Given the description of an element on the screen output the (x, y) to click on. 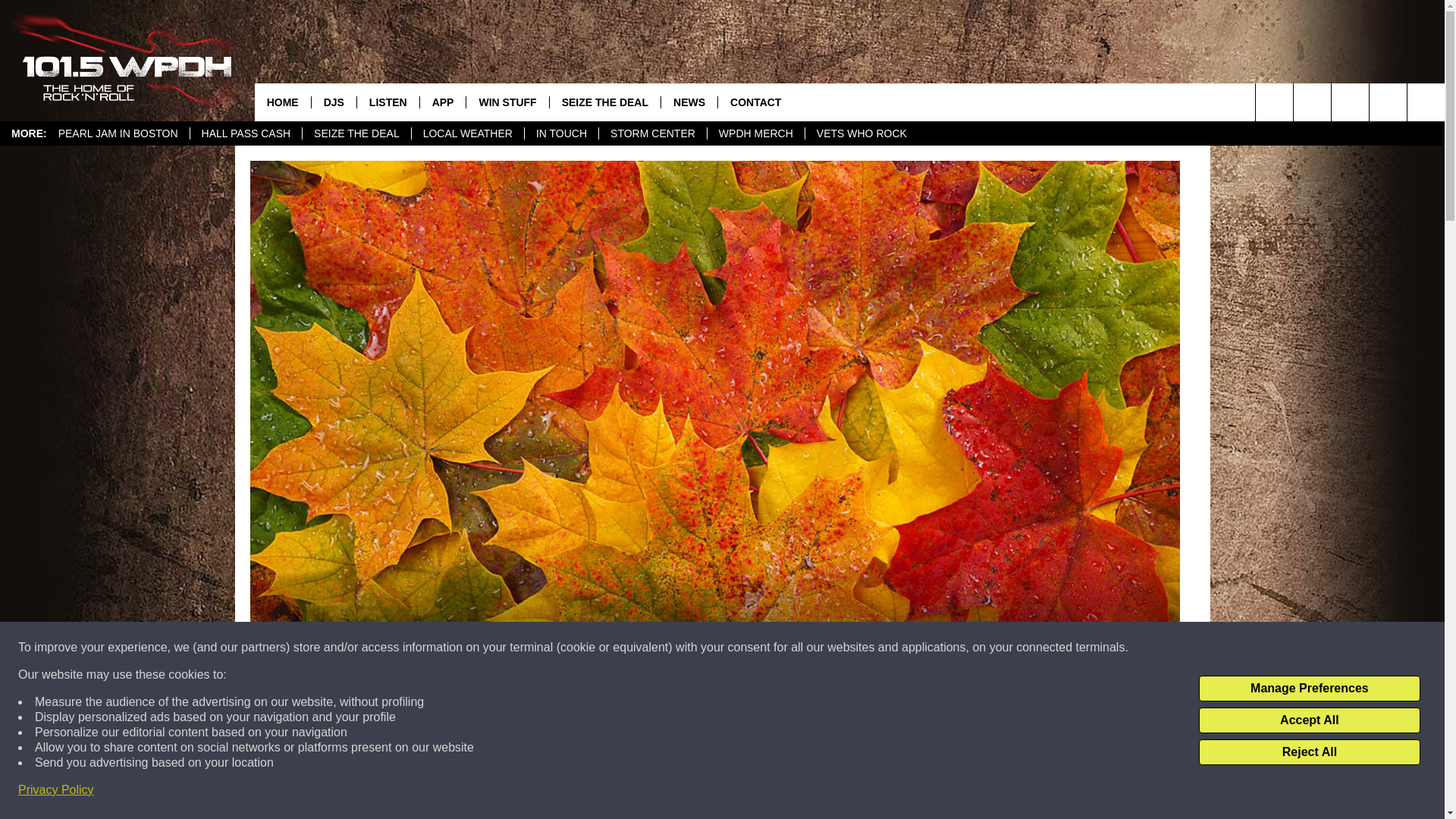
SEIZE THE DEAL (604, 102)
Share on Facebook (517, 791)
WIN STUFF (506, 102)
LISTEN (387, 102)
STORM CENTER (652, 133)
Share on Twitter (912, 791)
Manage Preferences (1309, 688)
DJS (333, 102)
HALL PASS CASH (245, 133)
Accept All (1309, 720)
WPDH MERCH (755, 133)
APP (442, 102)
SEIZE THE DEAL (355, 133)
Privacy Policy (55, 789)
VETS WHO ROCK (861, 133)
